Given the description of an element on the screen output the (x, y) to click on. 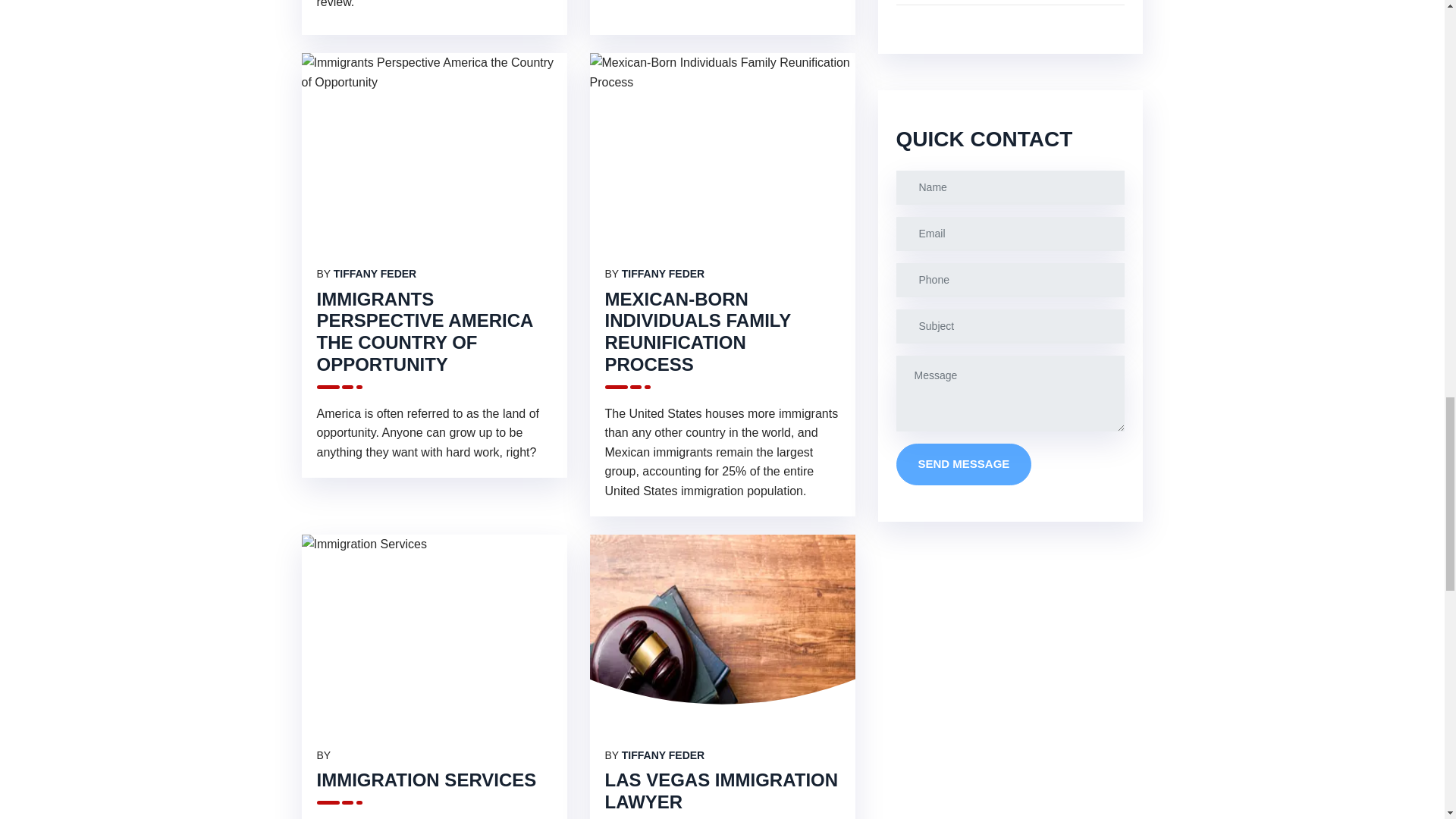
LAS VEGAS IMMIGRATION LAWYER (721, 790)
IMMIGRANTS PERSPECTIVE AMERICA THE COUNTRY OF OPPORTUNITY (424, 330)
IMMIGRATION SERVICES (427, 779)
MEXICAN-BORN INDIVIDUALS FAMILY REUNIFICATION PROCESS (697, 330)
